Given the description of an element on the screen output the (x, y) to click on. 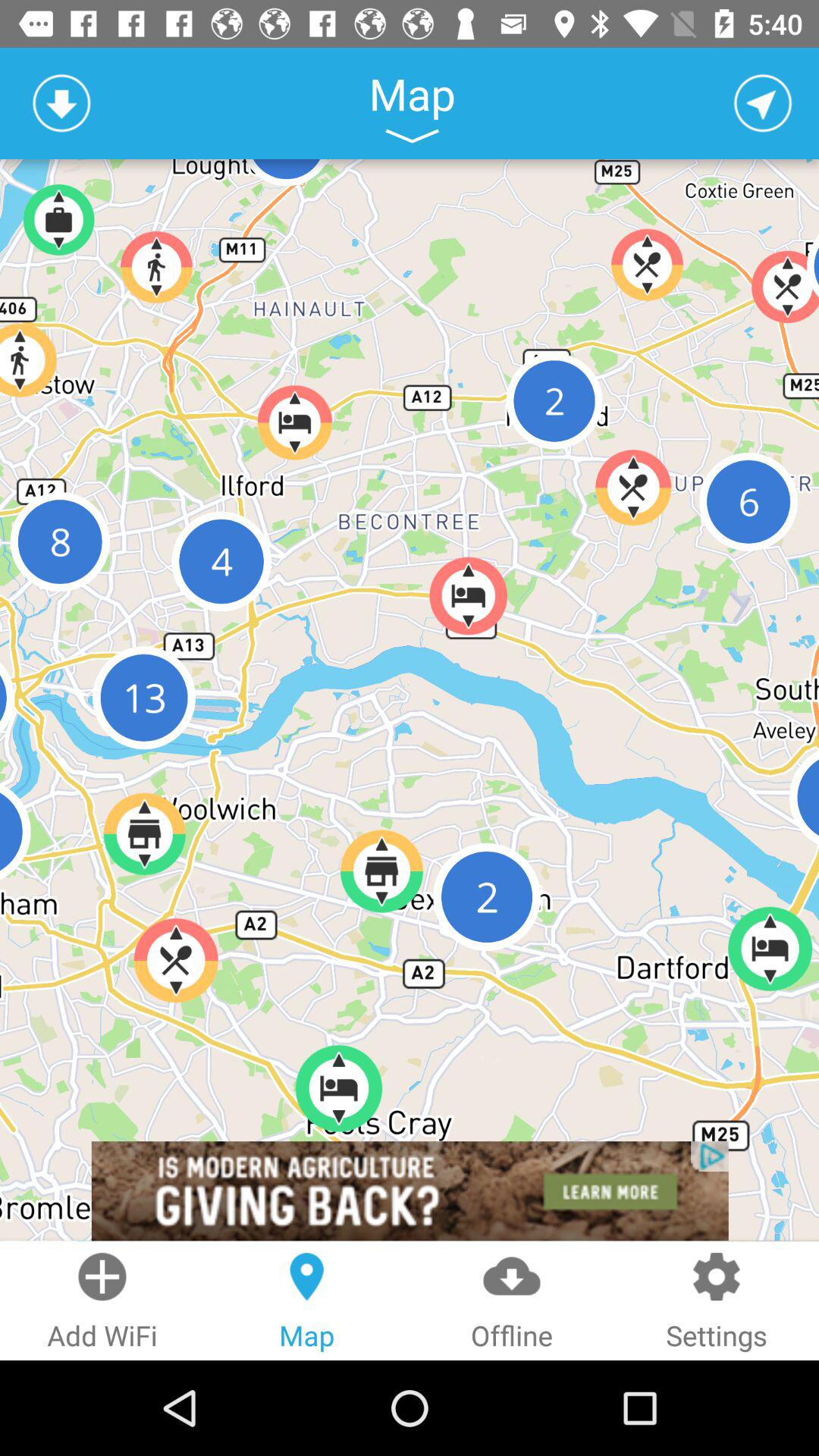
download option (61, 103)
